Given the description of an element on the screen output the (x, y) to click on. 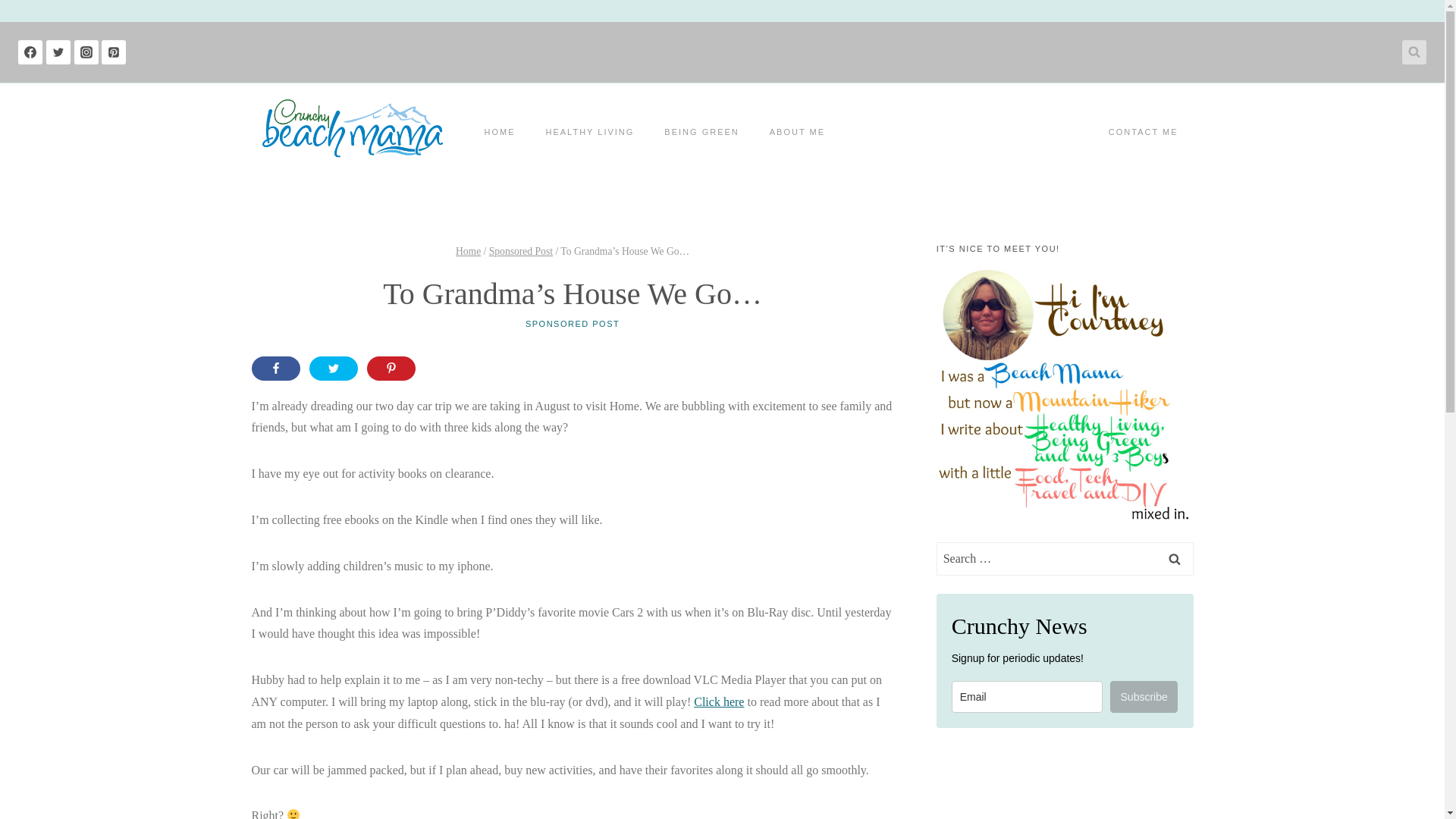
Search (1174, 558)
Share on Facebook (275, 368)
Sponsored Post (521, 251)
Share on Pinterest (390, 368)
ABOUT ME (797, 131)
Click here (719, 701)
CONTACT ME (1143, 131)
Search (1174, 558)
Subscribe (1143, 696)
SPONSORED POST (572, 323)
